Given the description of an element on the screen output the (x, y) to click on. 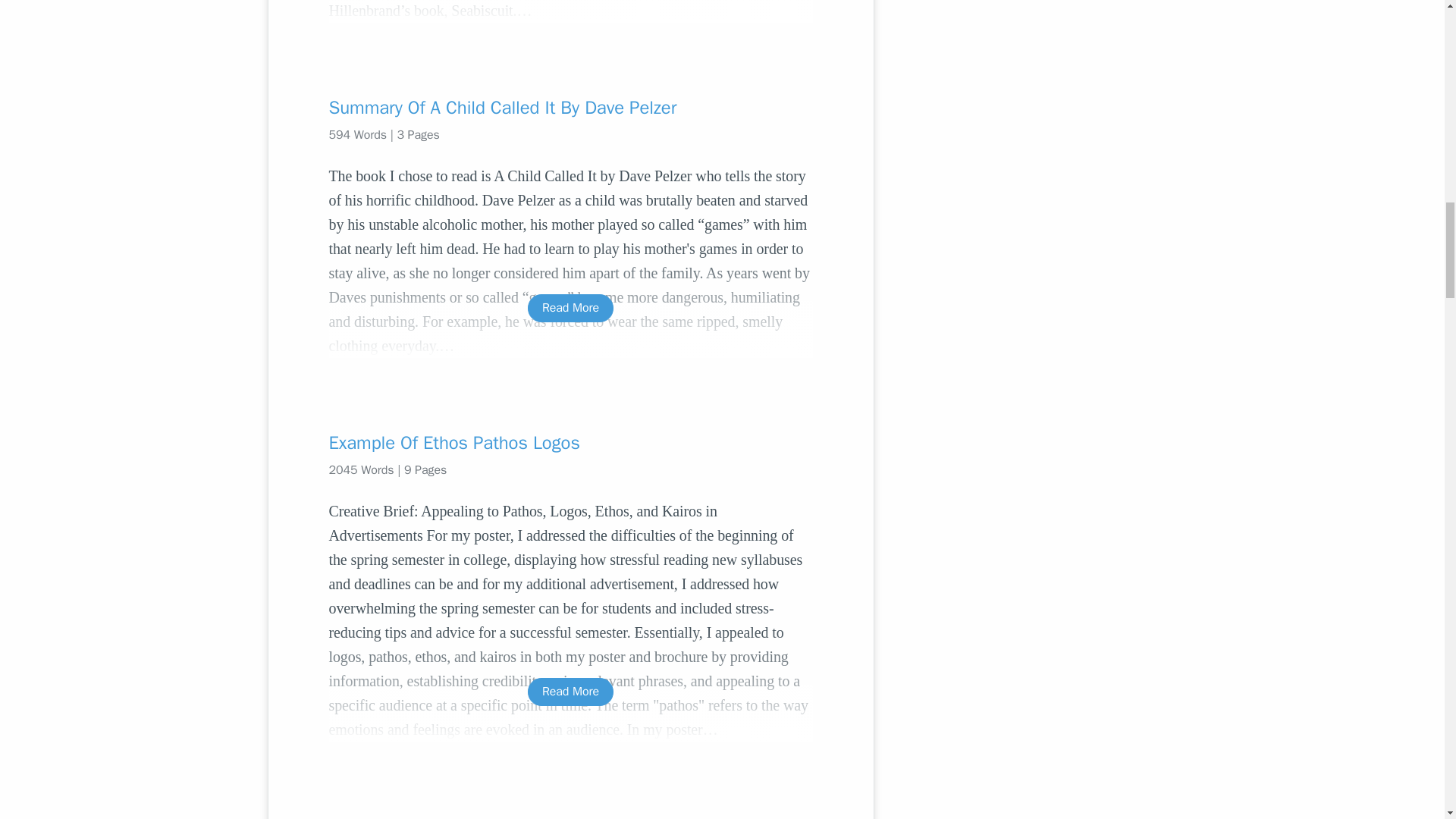
Read More (569, 308)
Read More (569, 691)
Example Of Ethos Pathos Logos (570, 442)
Summary Of A Child Called It By Dave Pelzer (570, 107)
